Given the description of an element on the screen output the (x, y) to click on. 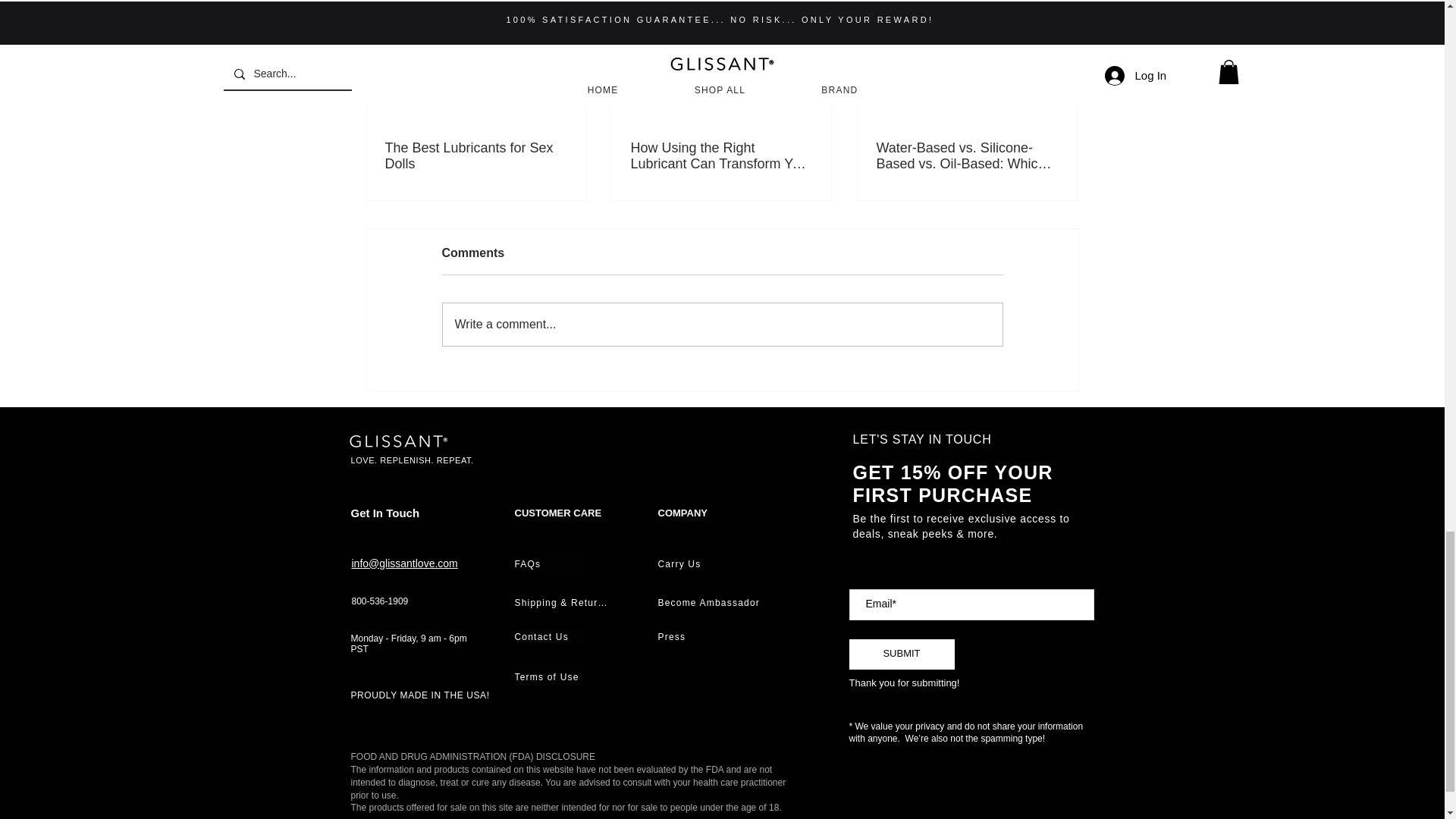
Glissant Lubricants (399, 441)
